Given the description of an element on the screen output the (x, y) to click on. 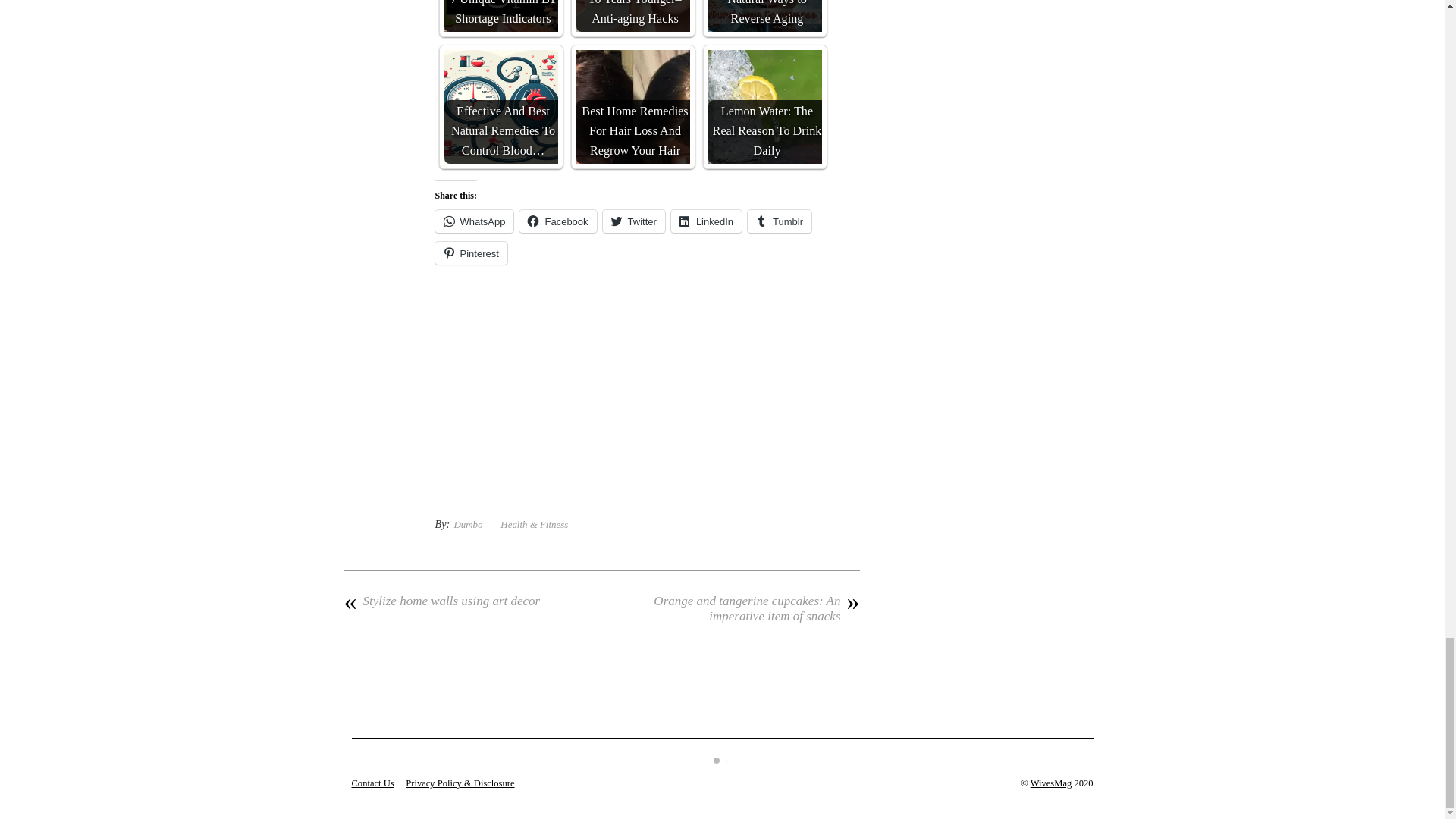
Unlocking Youth: 10 Natural Ways to Reverse Aging (764, 15)
Lemon Water: The Real Reason To Drink Daily (764, 106)
Click to share on Twitter (633, 220)
7 Unique Vitamin B1 Shortage Indicators (500, 15)
Dumbo (466, 523)
Click to share on Pinterest (470, 252)
7 Unique Vitamin B1 Shortage Indicators (500, 15)
Twitter (633, 220)
Unlocking Youth: 10 Natural Ways to Reverse Aging (764, 15)
Best Home Remedies For Hair Loss And Regrow Your Hair (633, 106)
